Given the description of an element on the screen output the (x, y) to click on. 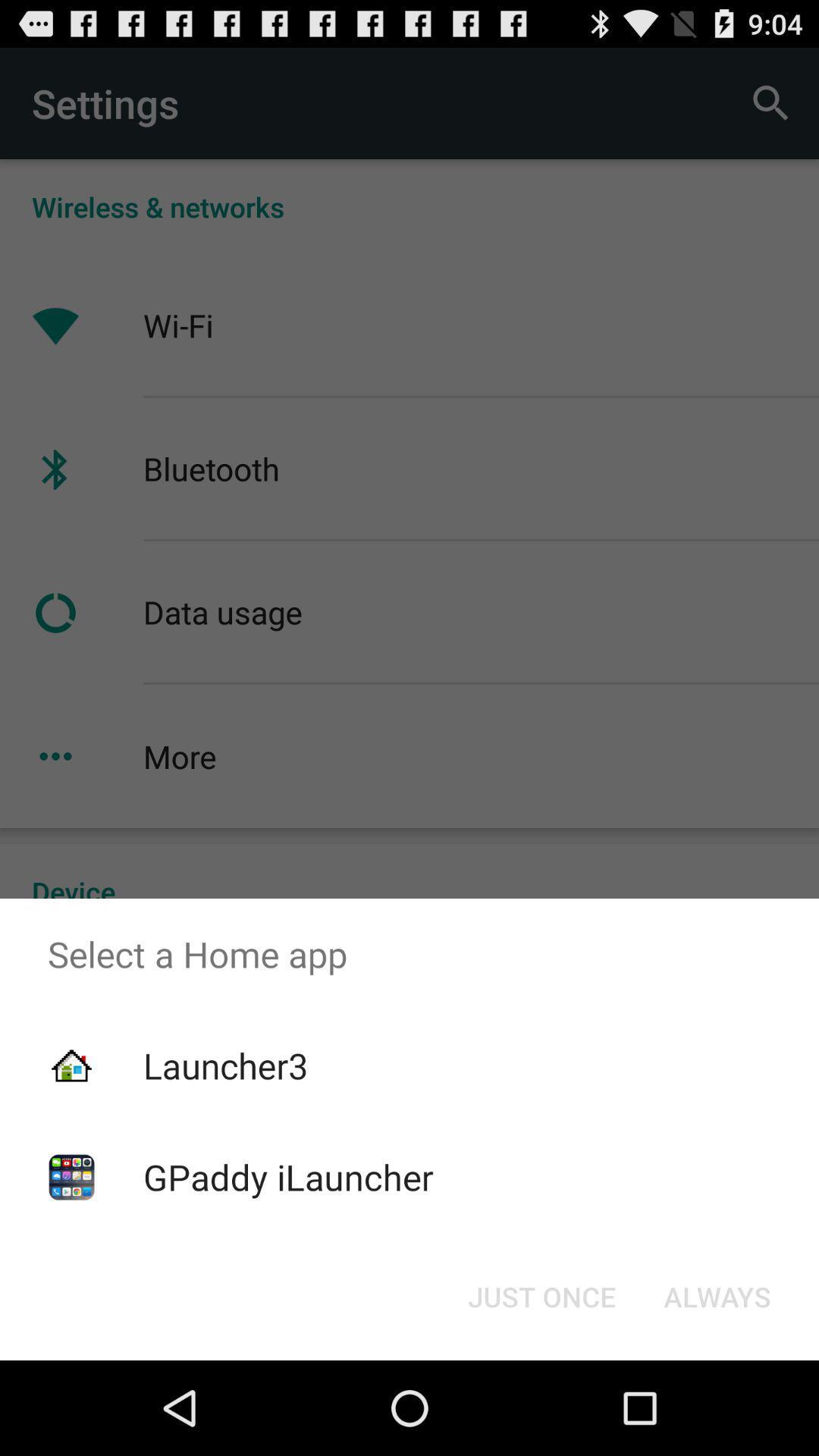
launch item at the bottom right corner (717, 1296)
